Given the description of an element on the screen output the (x, y) to click on. 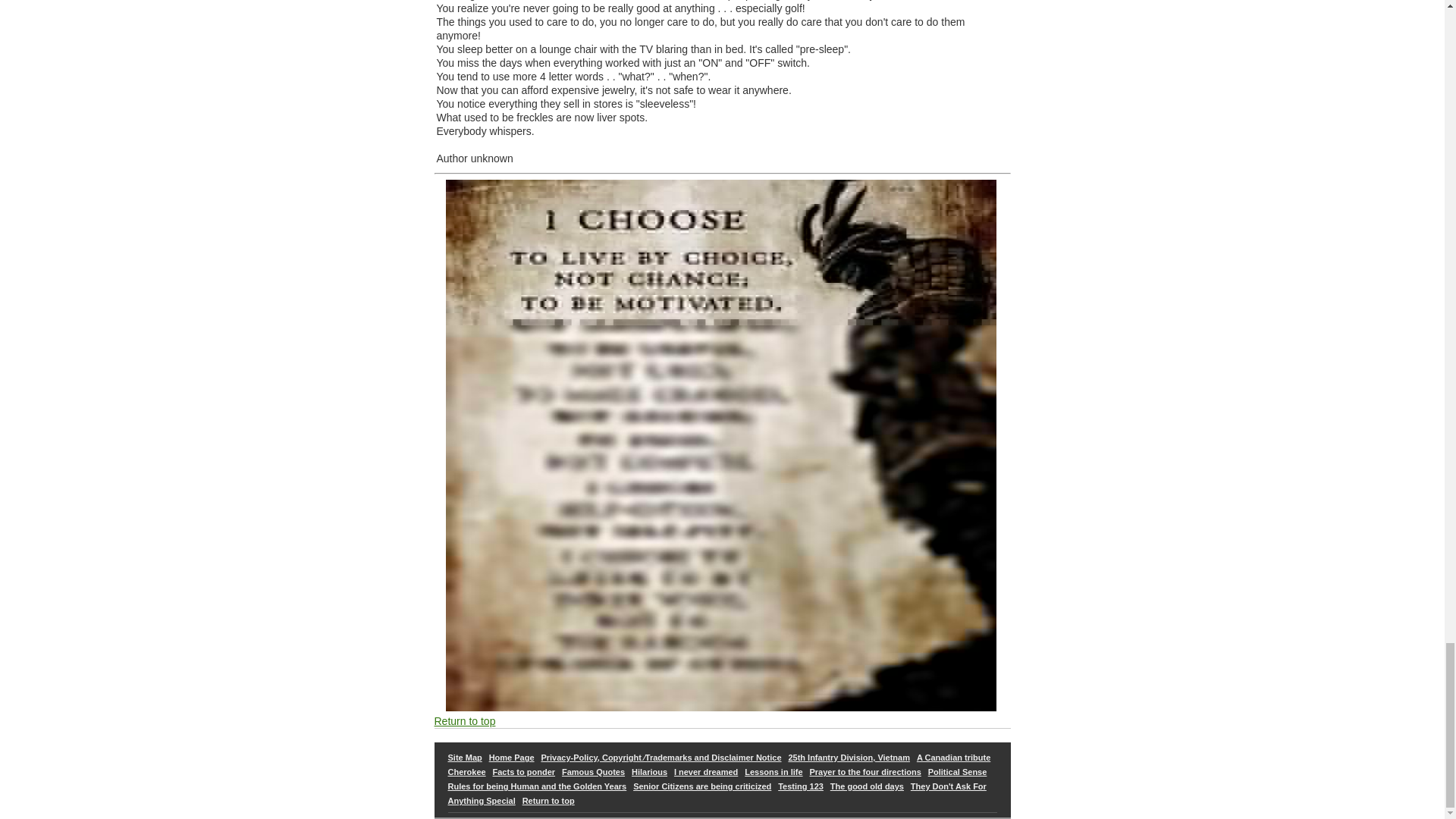
Cherokee (465, 771)
Hilarious (648, 771)
Rules for being Human and the Golden Years (536, 786)
Site Map (463, 757)
Political Sense (957, 771)
Prayer to the four directions (865, 771)
Facts to ponder (524, 771)
Testing 123 (800, 786)
A Canadian tribute (953, 757)
Senior Citizens are being criticized (702, 786)
